Given the description of an element on the screen output the (x, y) to click on. 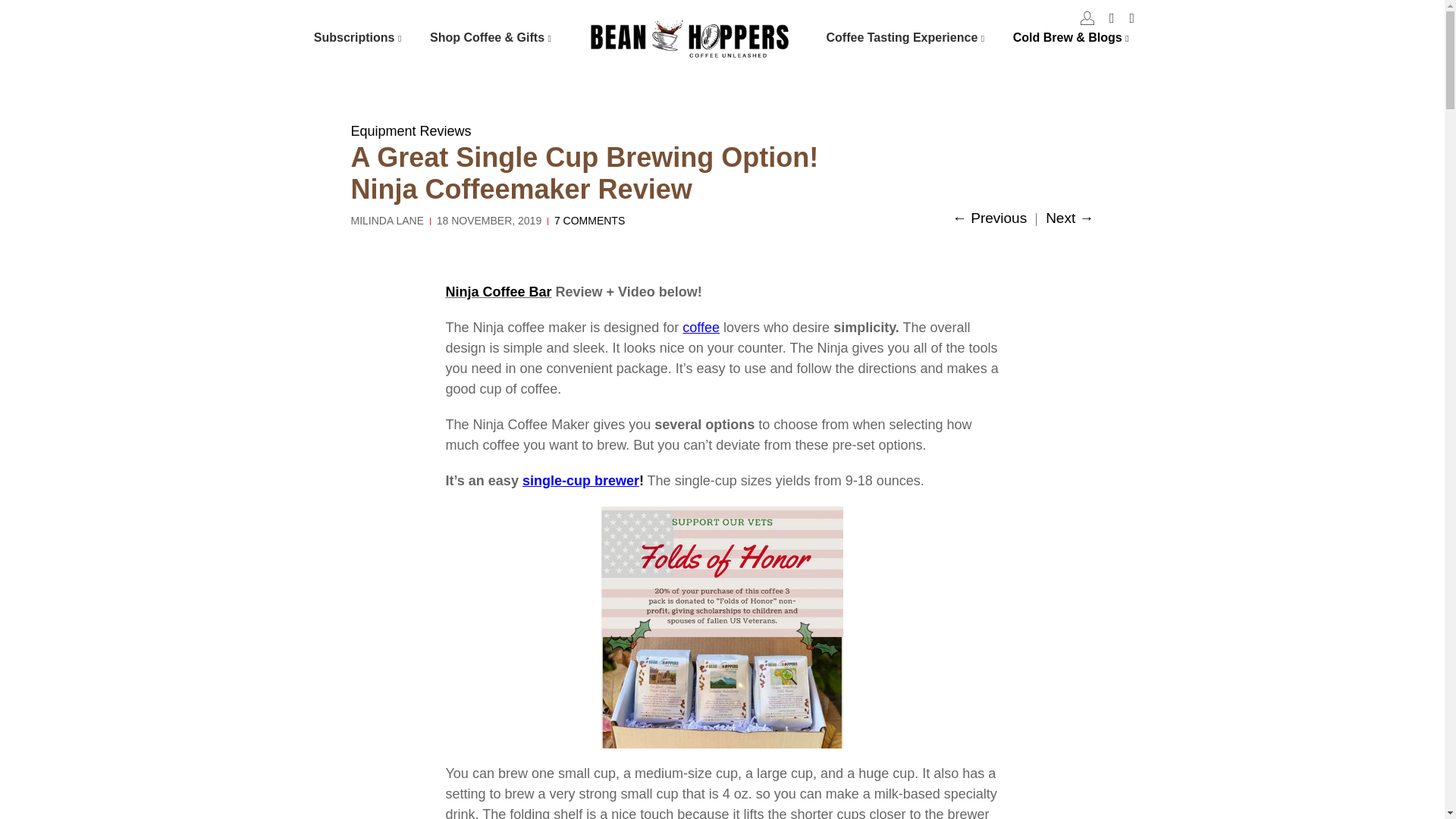
Gift Box Veterans Charity (721, 627)
My Account  (1087, 18)
Equipment Reviews (410, 130)
Subscriptions (359, 37)
Coffee Tasting Experience (907, 37)
